Given the description of an element on the screen output the (x, y) to click on. 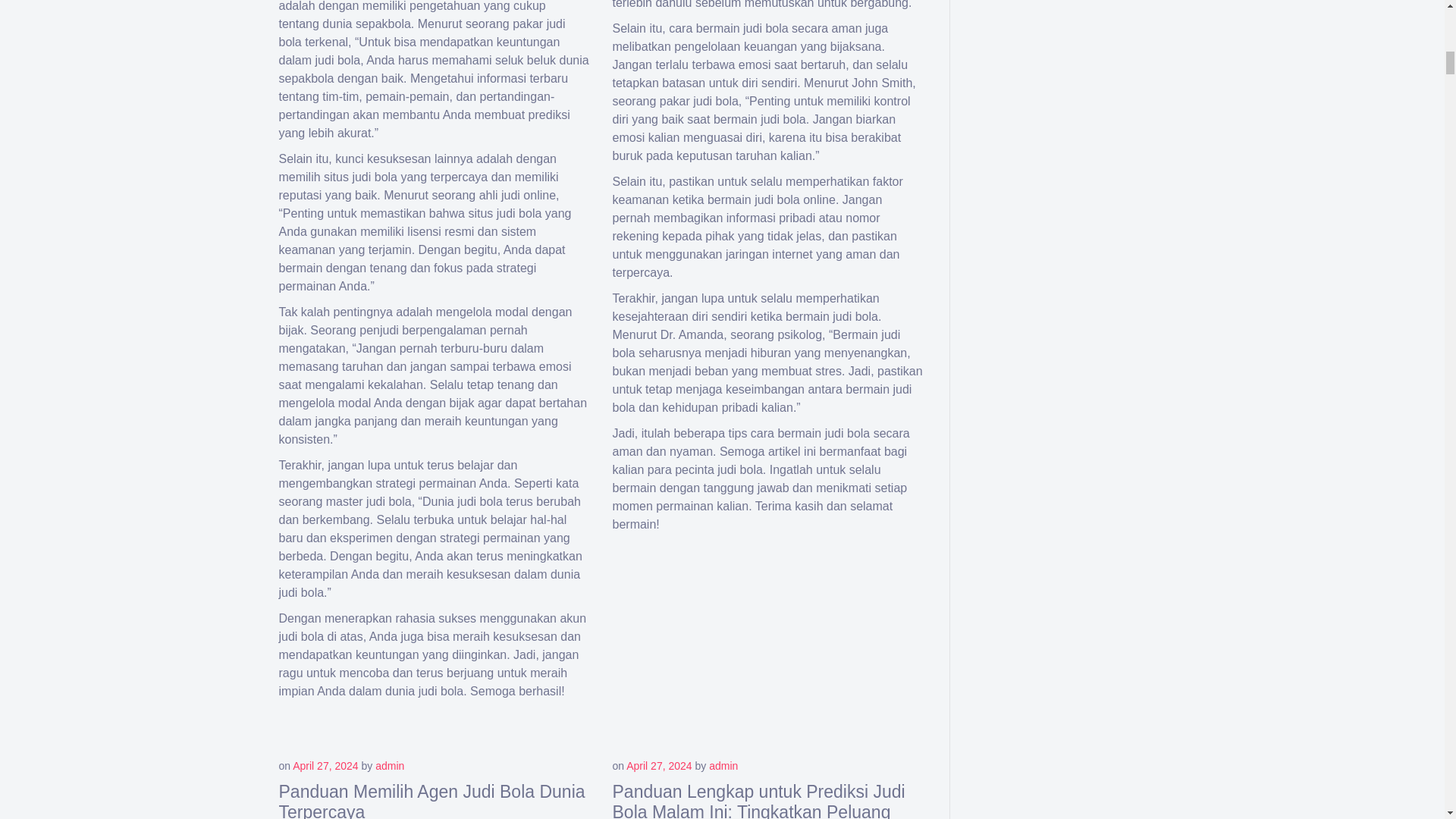
admin (389, 766)
Panduan Memilih Agen Judi Bola Dunia Terpercaya (432, 800)
admin (723, 766)
April 27, 2024 (658, 766)
April 27, 2024 (325, 766)
